Given the description of an element on the screen output the (x, y) to click on. 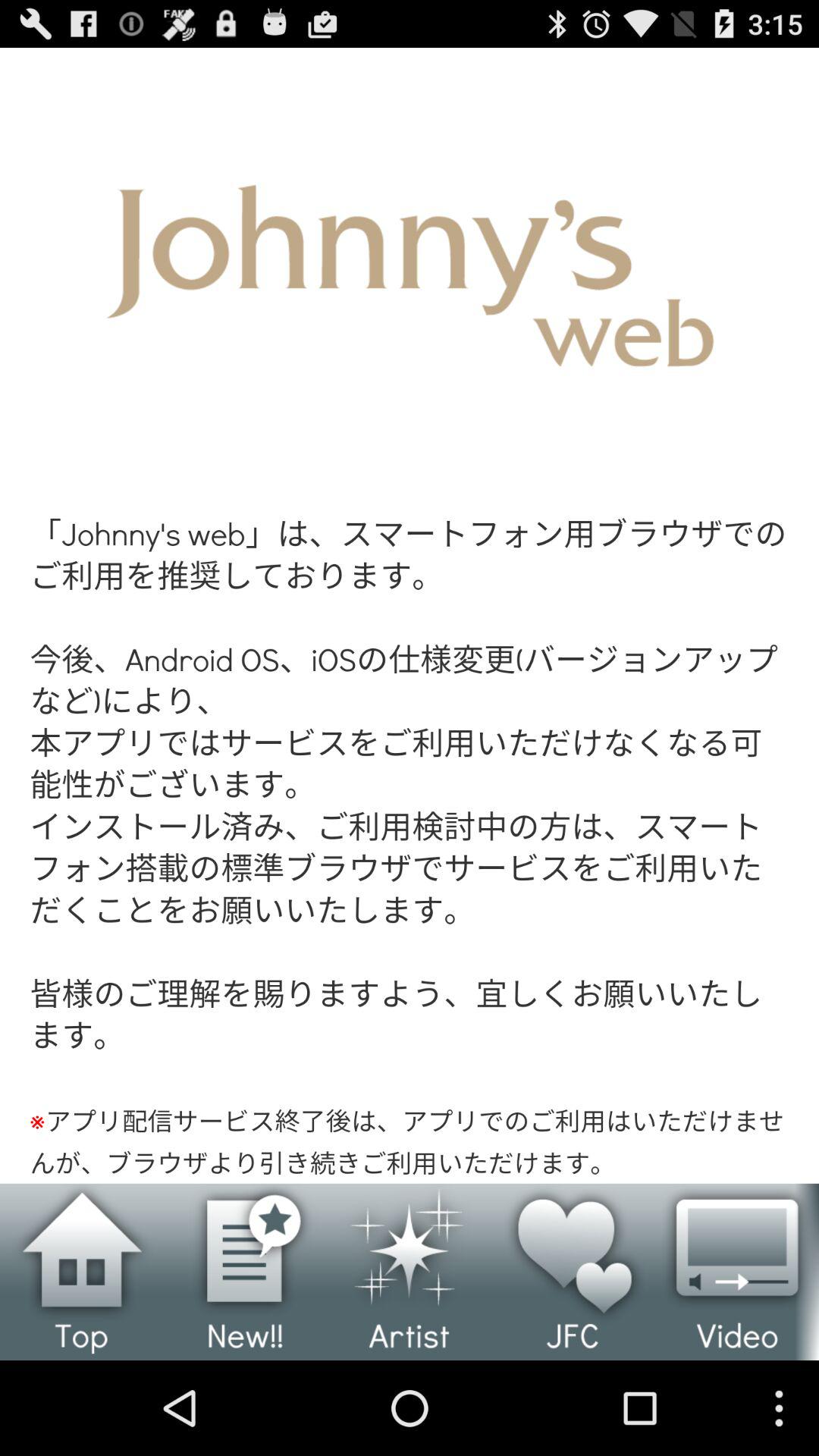
go to home page (81, 1271)
